Given the description of an element on the screen output the (x, y) to click on. 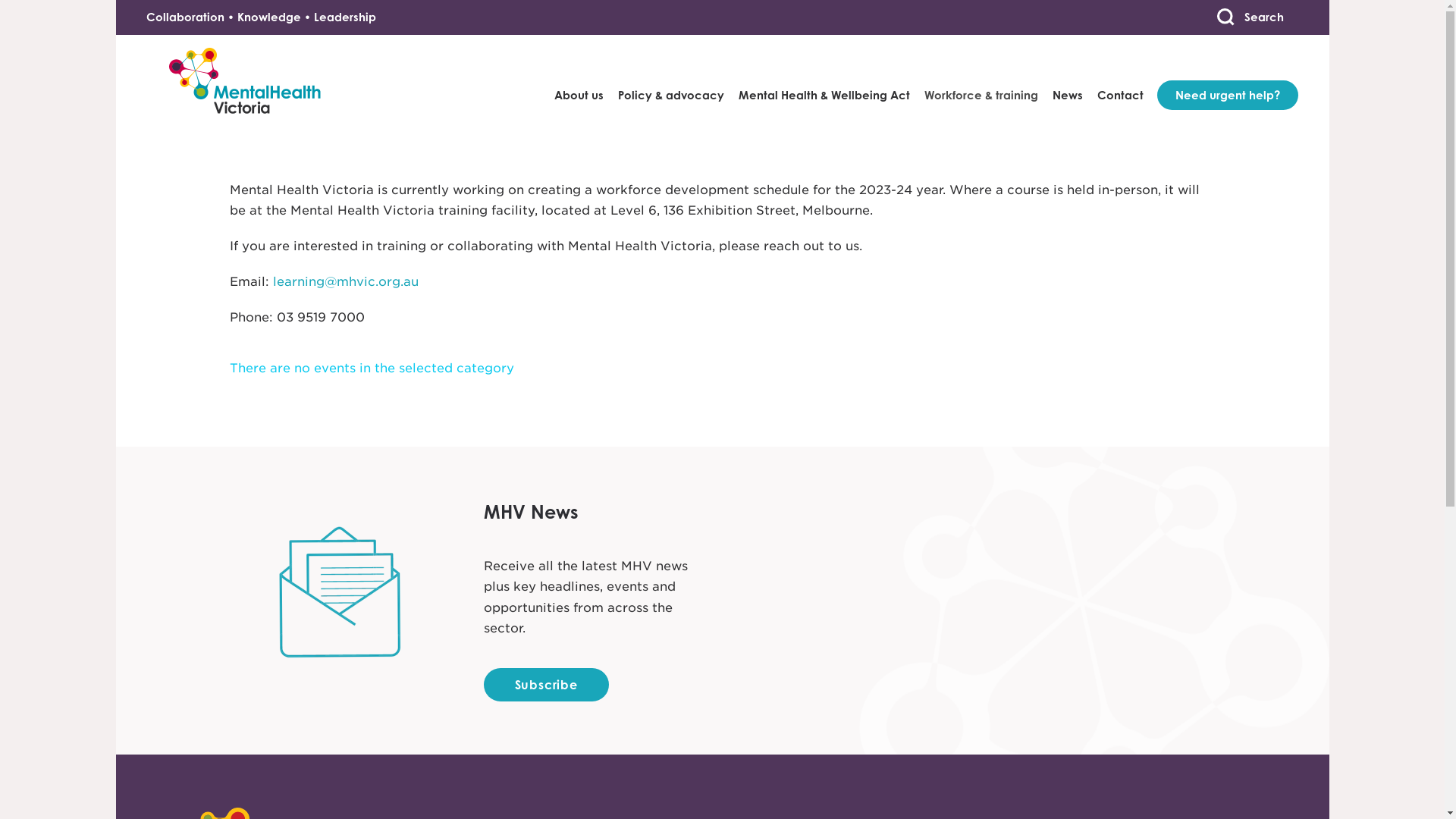
Policy & advocacy Element type: text (671, 79)
Mental Health & Wellbeing Act Element type: text (824, 79)
Search Element type: text (1250, 16)
Need urgent help? Element type: text (1242, 79)
About us Element type: text (578, 79)
News Element type: text (1067, 79)
Subscribe Element type: text (545, 684)
learning@mhvic.org.au Element type: text (345, 280)
Mental Health Victoria Element type: hover (223, 79)
Contact Element type: text (1120, 79)
Workforce & training Element type: text (981, 79)
